Given the description of an element on the screen output the (x, y) to click on. 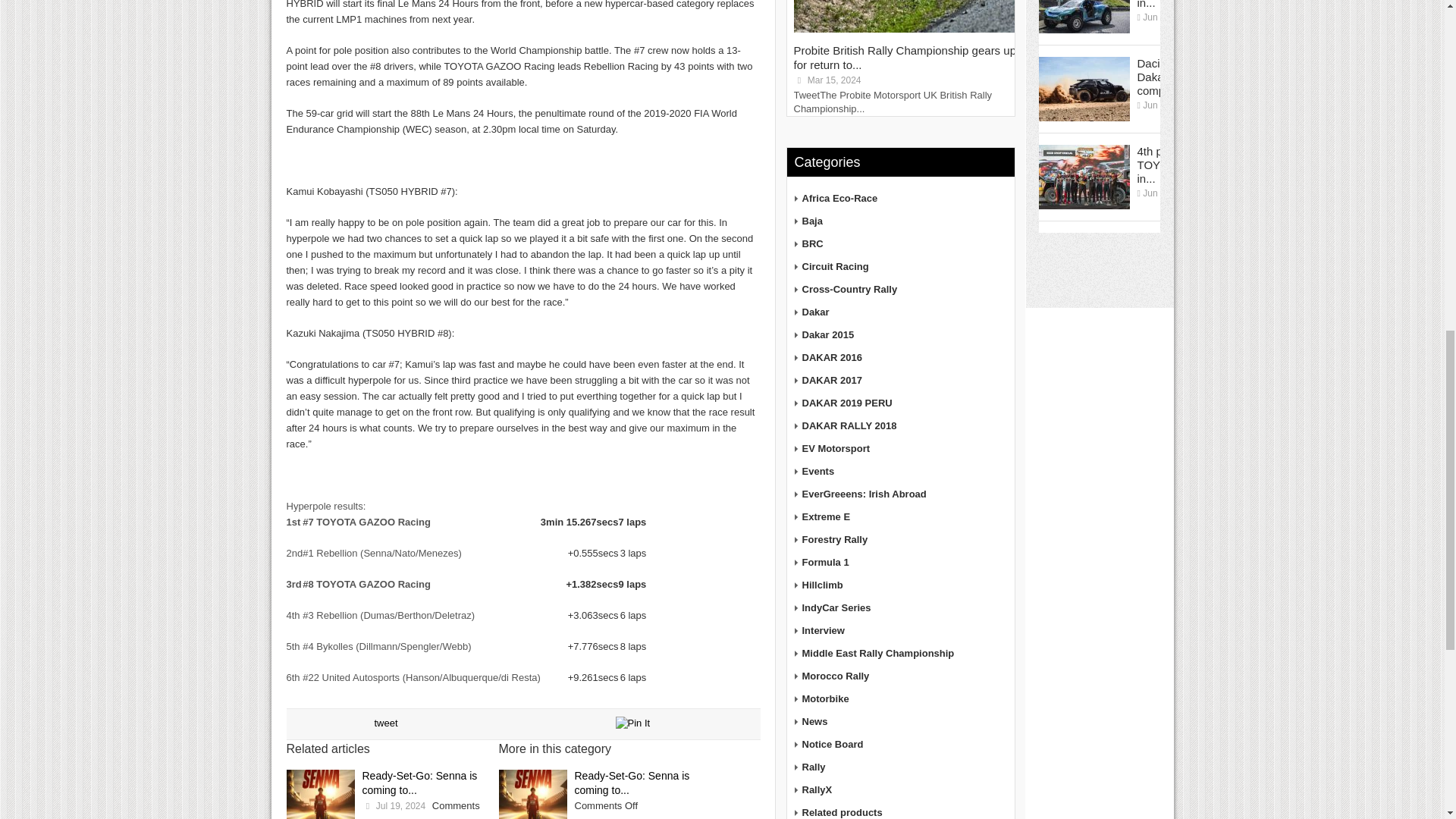
Ready-Set-Go: Senna is coming to Netflix this November (533, 794)
Pin It (632, 723)
Ready-Set-Go: Senna is coming to Netflix this November (320, 794)
tweet (385, 722)
